Given the description of an element on the screen output the (x, y) to click on. 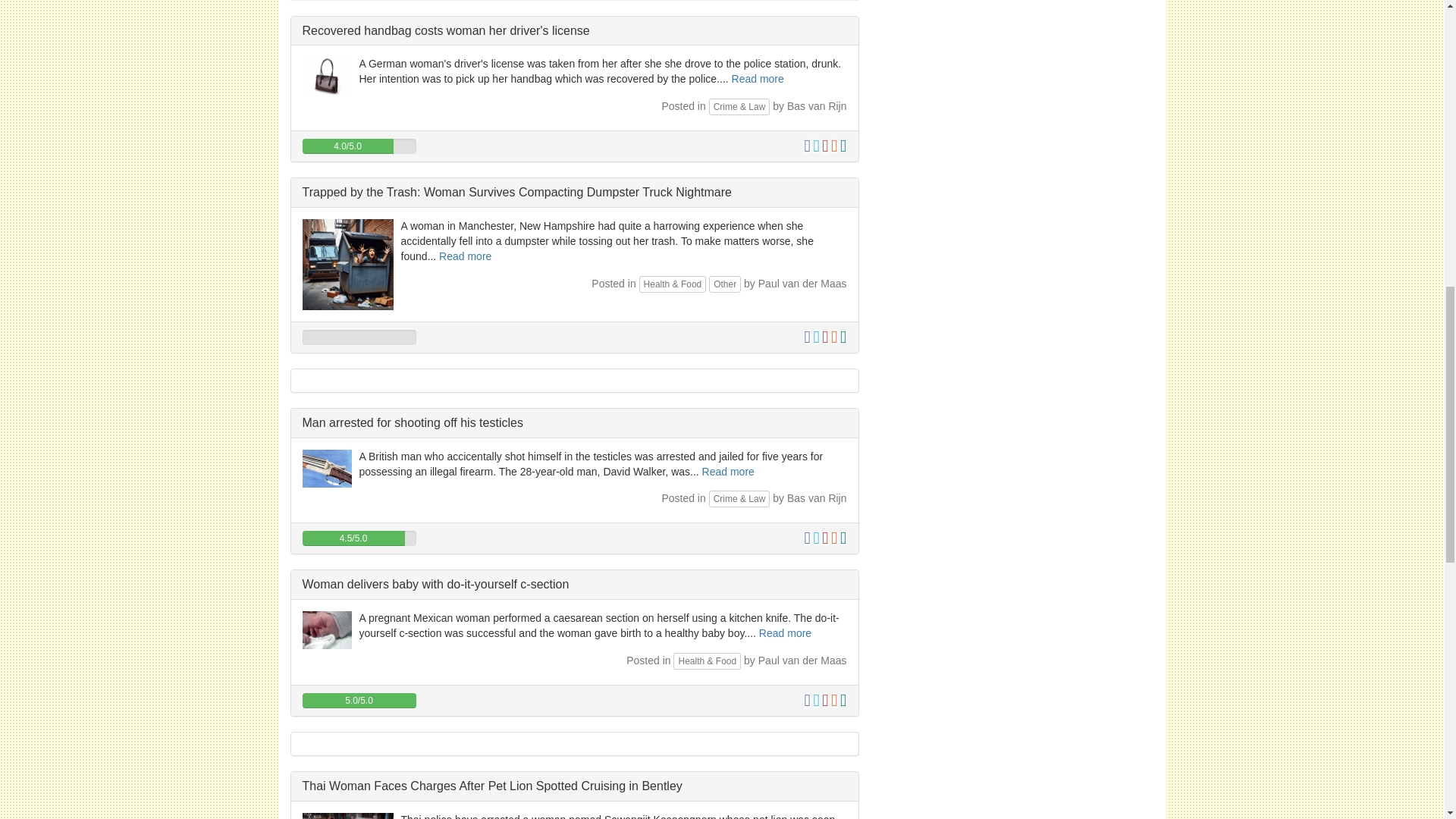
Recovered handbag costs woman her driver's license (445, 30)
Read more (727, 471)
Read more (758, 78)
Man arrested for shooting off his testicles (411, 422)
Read more (465, 256)
Other (725, 284)
